Given the description of an element on the screen output the (x, y) to click on. 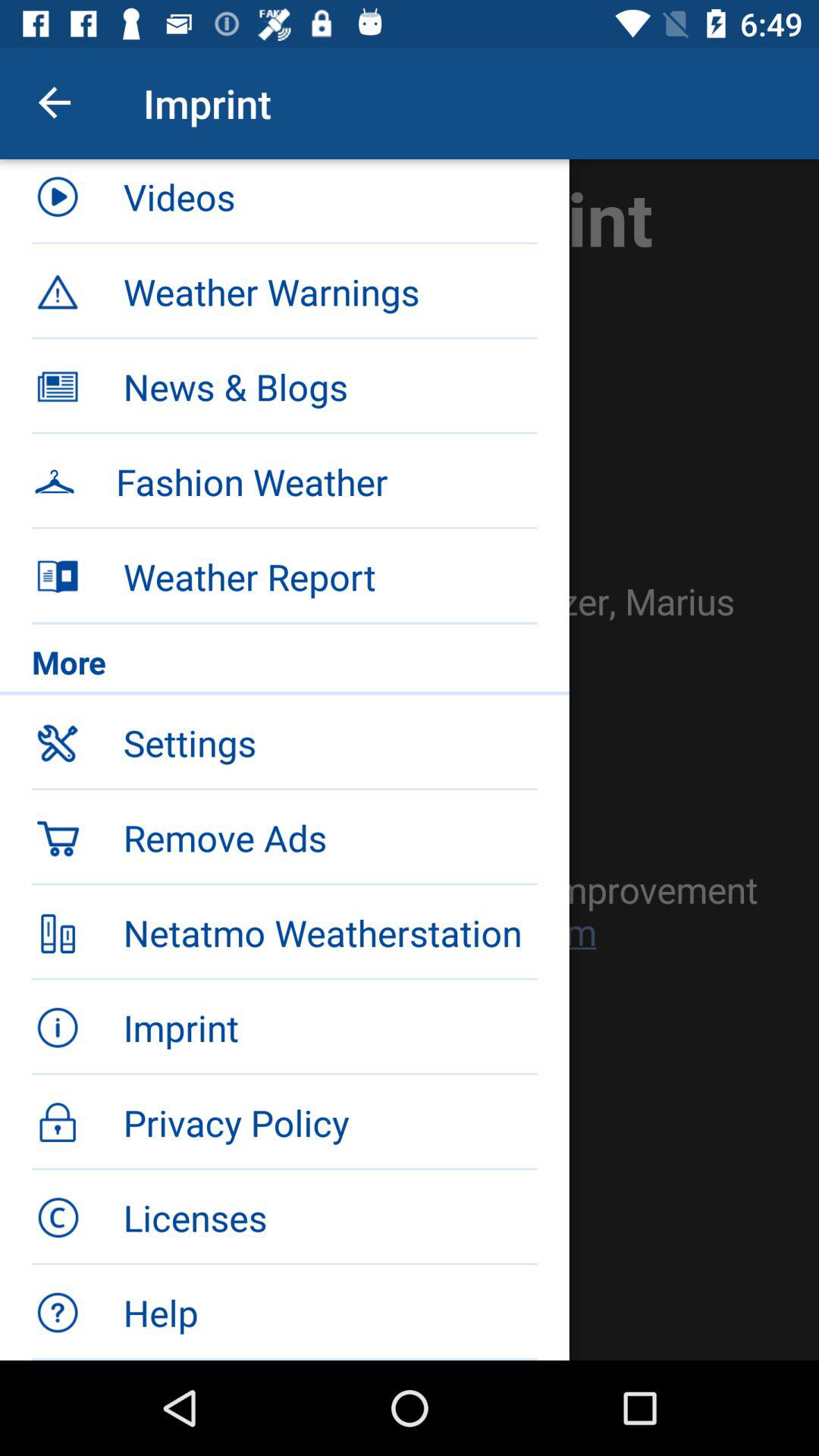
choose the licenses item (330, 1217)
